Given the description of an element on the screen output the (x, y) to click on. 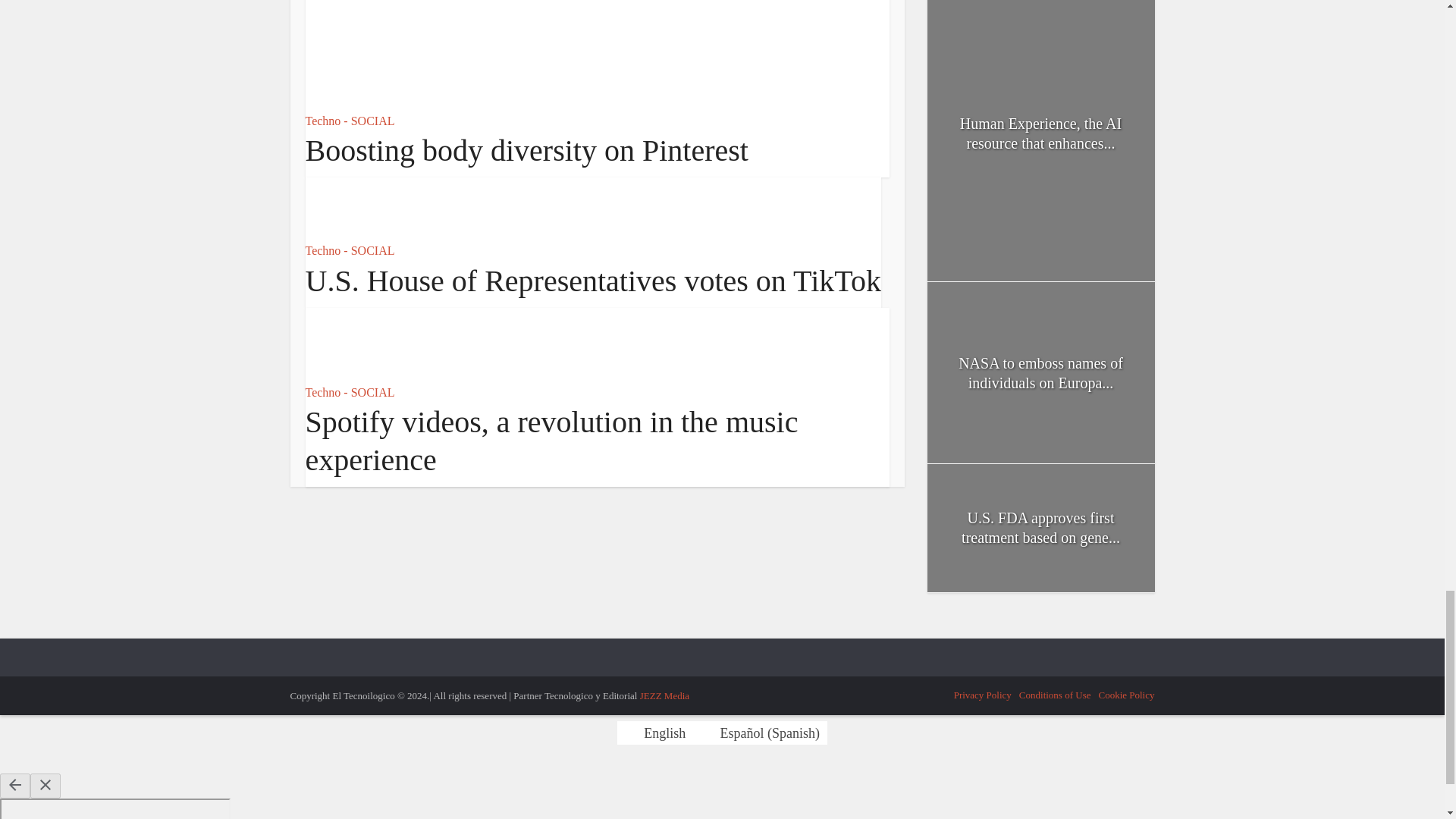
U.S. House of Representatives votes on TikTok (592, 280)
Spotify videos, a revolution in the music experience (550, 440)
U.S. House of Representatives votes on TikTok (359, 206)
Spotify videos, a revolution in the music experience (359, 342)
Boosting body diversity on Pinterest (526, 150)
Boosting body diversity on Pinterest (526, 150)
Techno - SOCIAL (349, 250)
Techno - SOCIAL (349, 120)
U.S. House of Representatives votes on TikTok (592, 280)
